Given the description of an element on the screen output the (x, y) to click on. 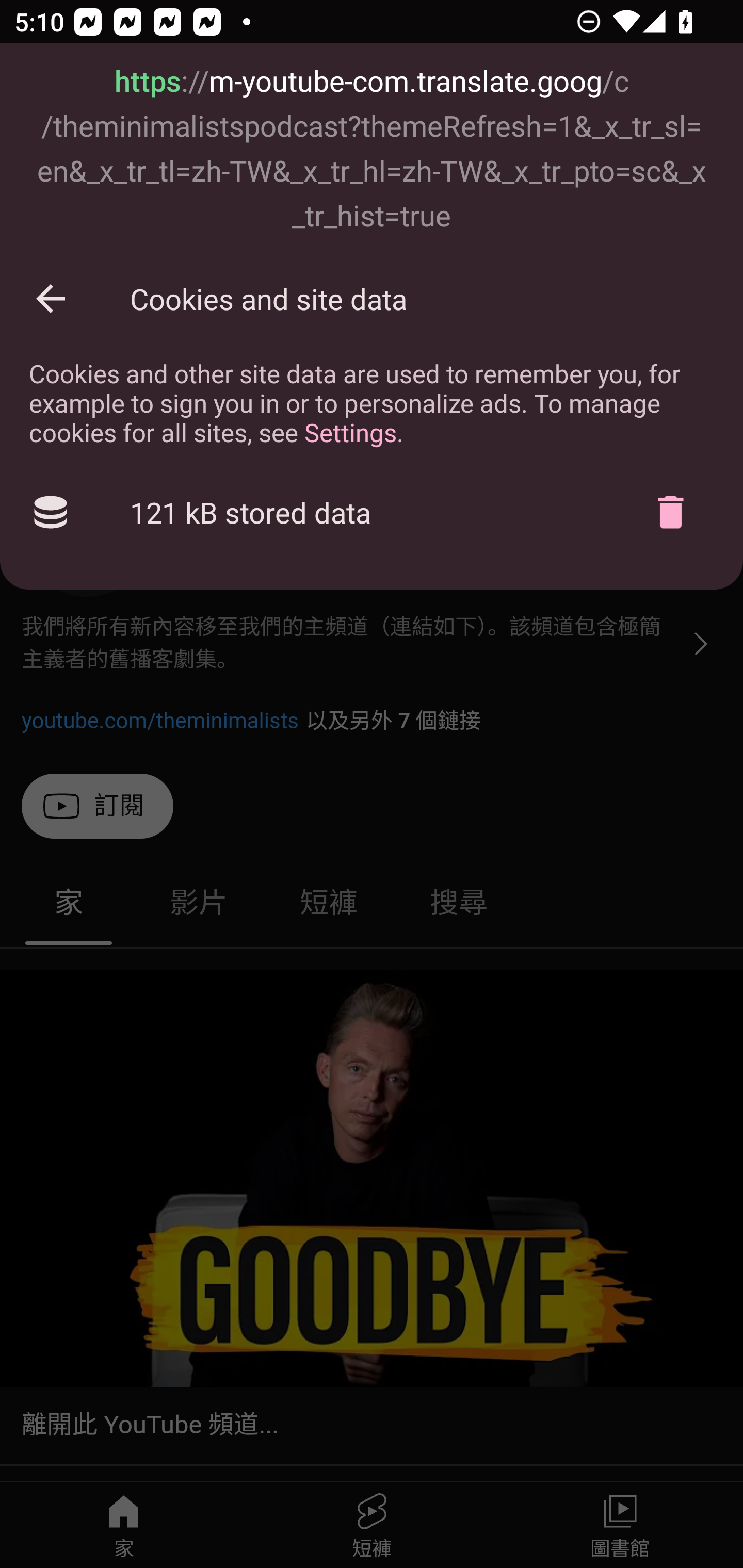
Back (50, 298)
121 kB stored data Delete cookies? (371, 512)
